Given the description of an element on the screen output the (x, y) to click on. 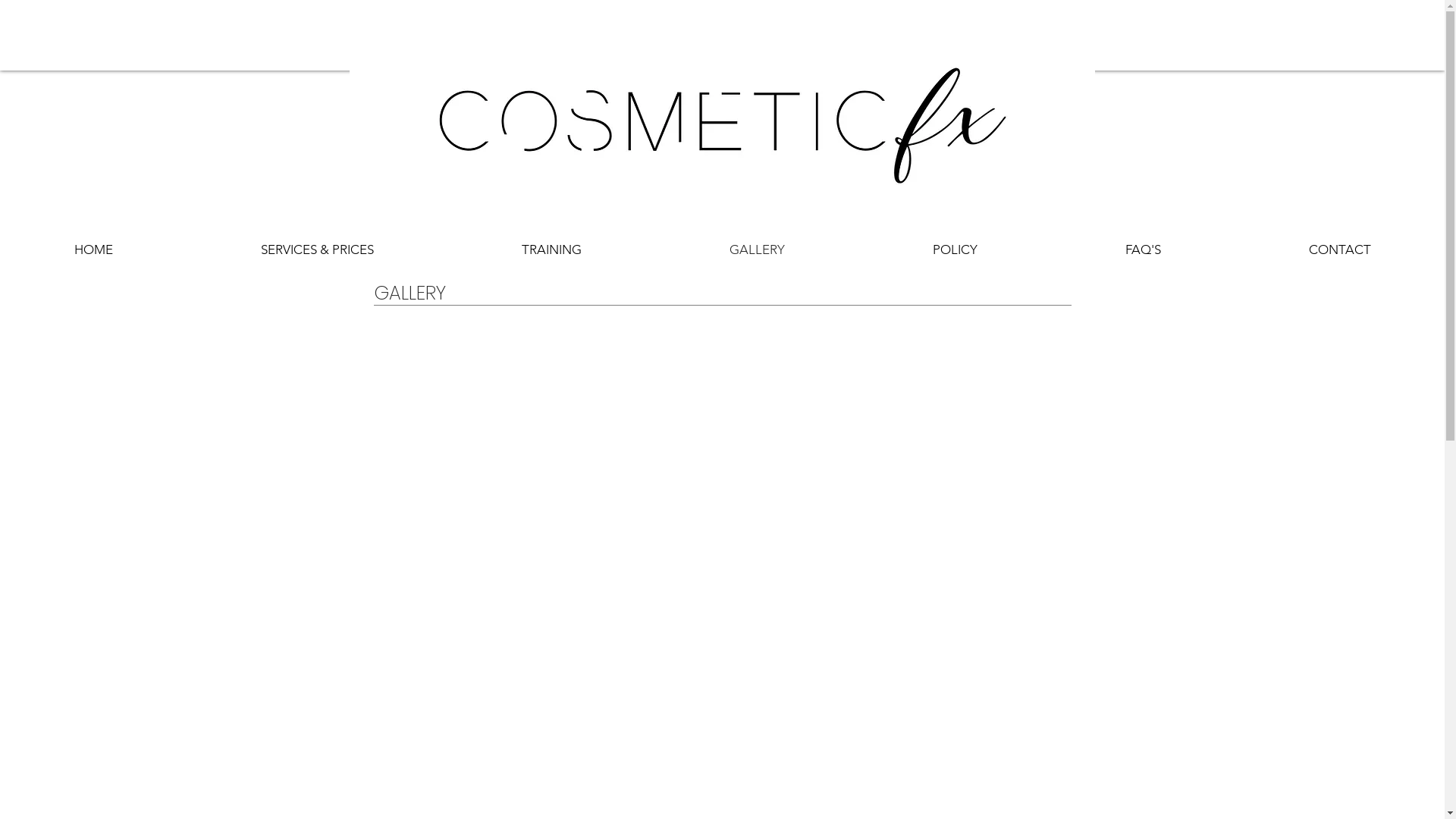
GALLERY Element type: text (756, 249)
POLICY Element type: text (954, 249)
FAQ'S Element type: text (1142, 249)
CONTACT Element type: text (1339, 249)
SERVICES & PRICES Element type: text (316, 249)
HOME Element type: text (93, 249)
TRAINING Element type: text (551, 249)
